Given the description of an element on the screen output the (x, y) to click on. 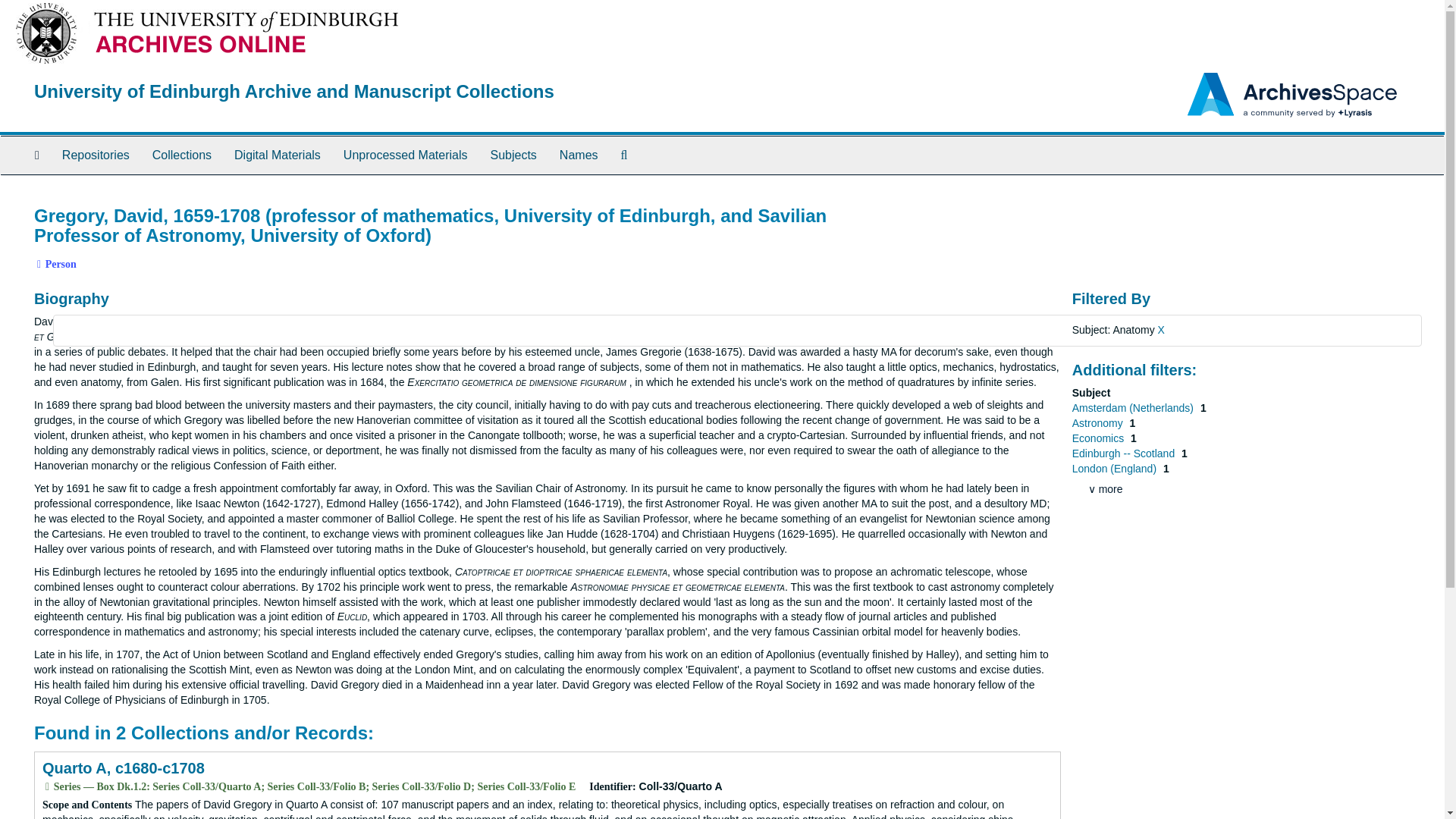
Filter By 'Astronomy' (1098, 422)
Search The Archives (624, 155)
Filter By 'Edinburgh -- Scotland' (1124, 453)
Remove this filter  (1160, 329)
University of Edinburgh Website (45, 32)
Search The Archives (624, 155)
X (1160, 329)
Astronomy (1098, 422)
Repositories (95, 155)
Subjects (513, 155)
Digital Materials (276, 155)
Economics (1098, 438)
Quarto A, c1680-c1708 (123, 768)
Names (579, 155)
Unprocessed Materials (405, 155)
